Given the description of an element on the screen output the (x, y) to click on. 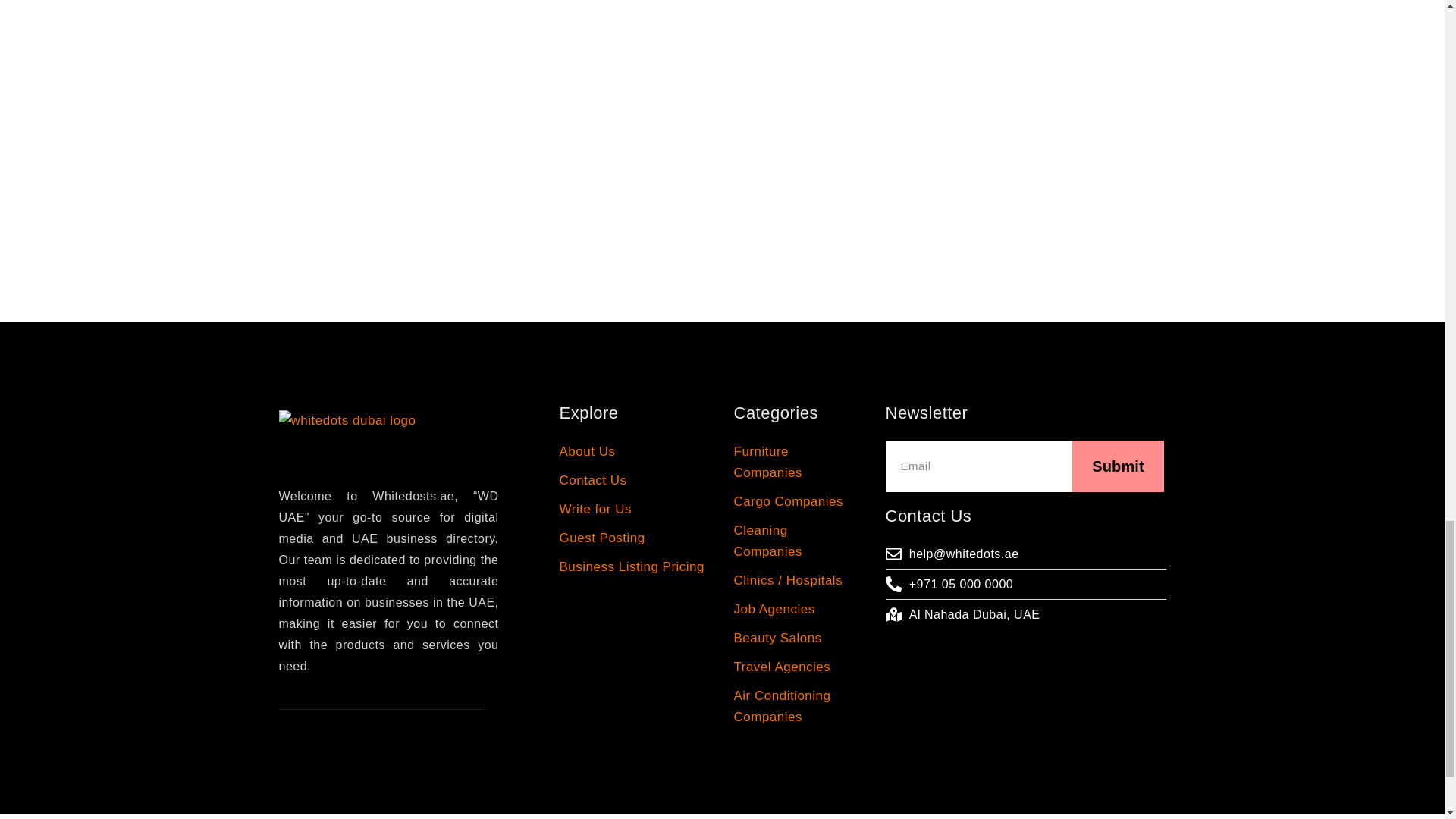
Newsletter (1025, 414)
Submit (1025, 466)
Explore (635, 414)
Write for Us (635, 509)
Business Listing Pricing (635, 567)
Guest Posting (635, 537)
About Us (635, 451)
Categories (790, 414)
Contact Us (635, 480)
